Given the description of an element on the screen output the (x, y) to click on. 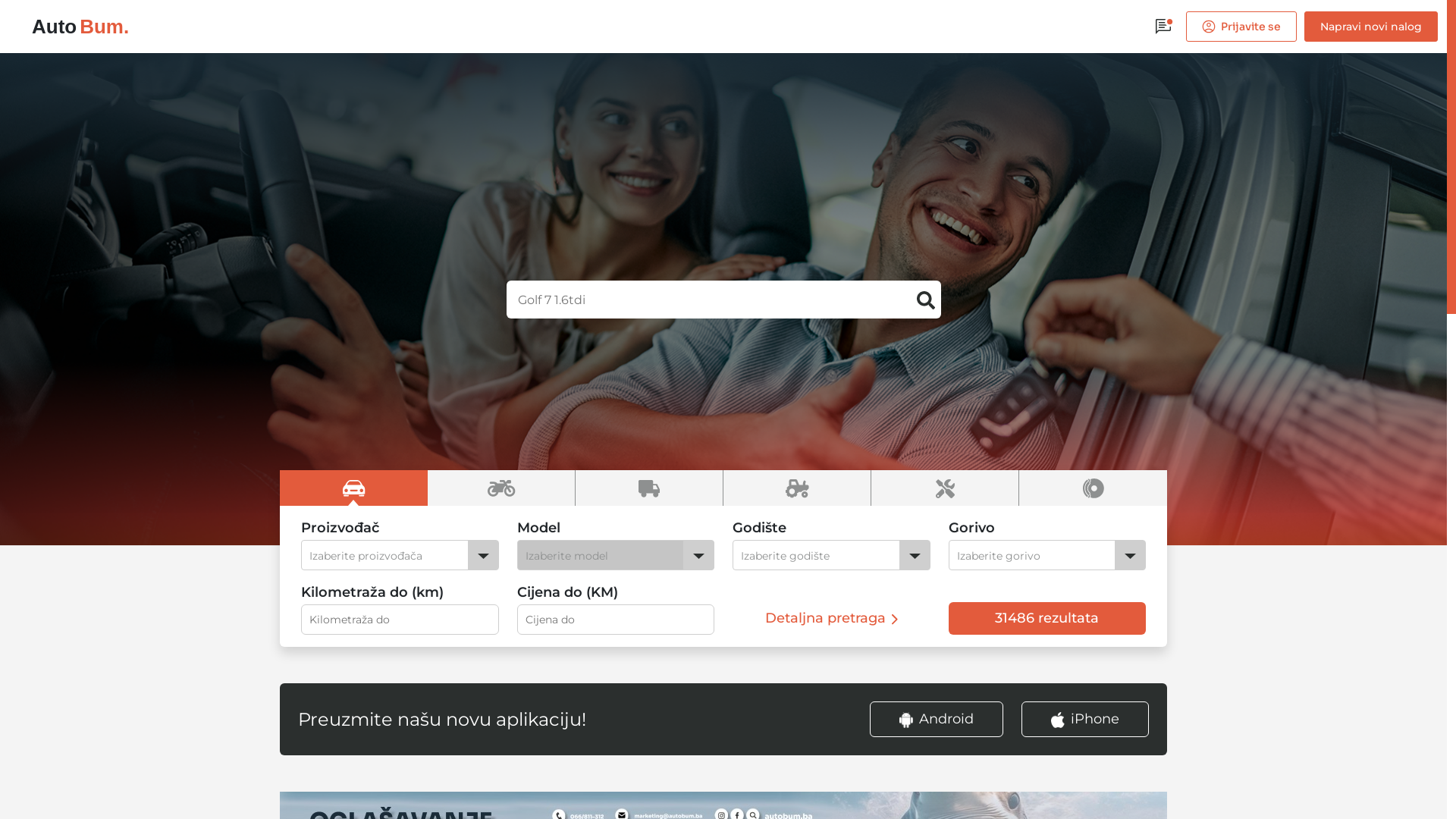
31486 rezultata Element type: text (1046, 618)
Android Element type: text (945, 719)
iPhone Element type: text (1084, 719)
Detaljna pretraga Element type: text (831, 617)
Prijavite se Element type: text (1241, 26)
Napravi novi nalog Element type: text (1370, 26)
iPhone Element type: text (1084, 719)
Android Element type: text (936, 719)
Auto Bum. Element type: text (79, 28)
